Given the description of an element on the screen output the (x, y) to click on. 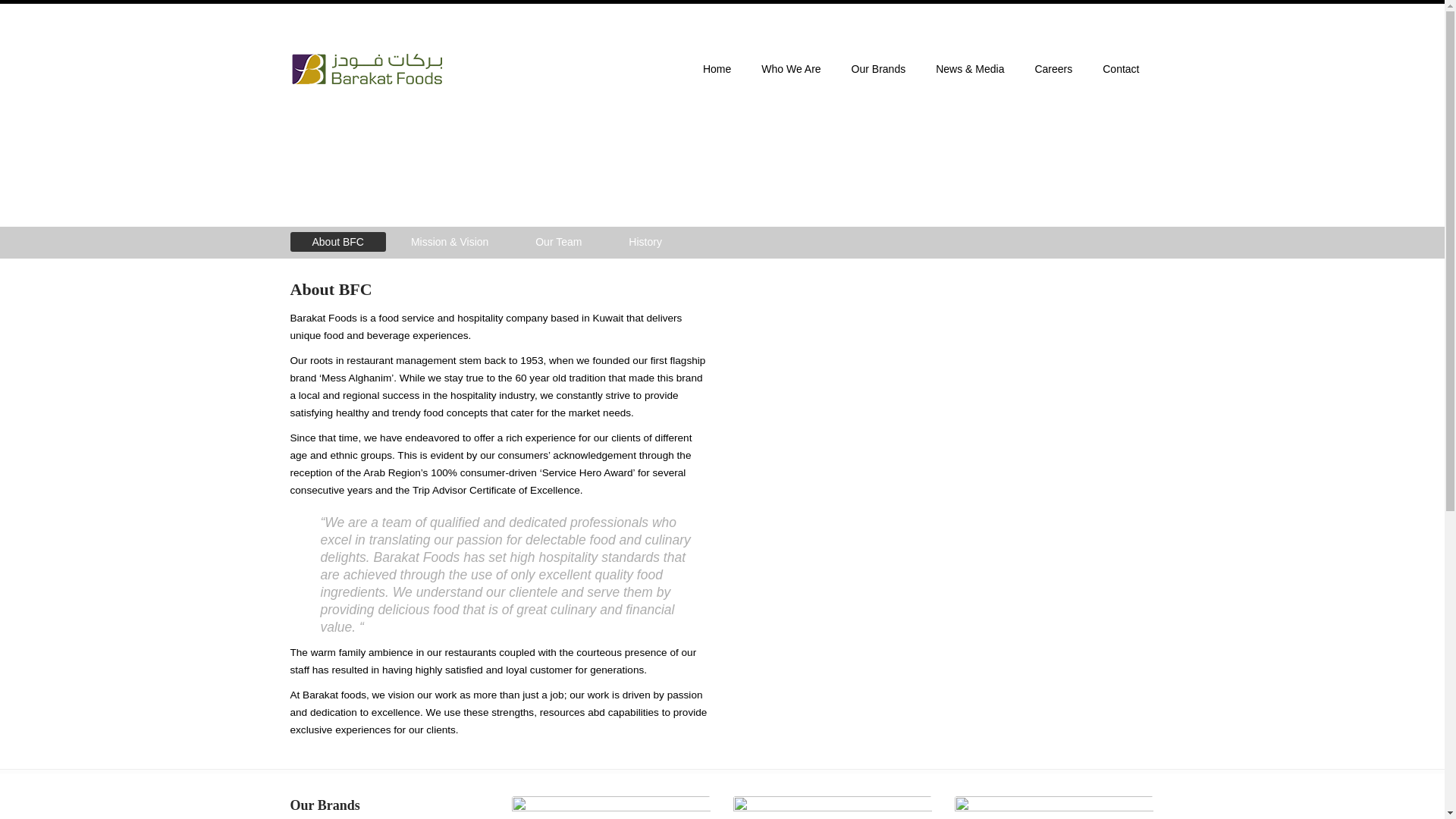
Linkedin (1116, 22)
Our Team (558, 241)
Careers (1053, 70)
Who We Are (790, 70)
History (645, 241)
Google Plus (1142, 22)
Home (716, 70)
About BFC (337, 241)
Contact (1120, 70)
Our Brands (878, 70)
